Given the description of an element on the screen output the (x, y) to click on. 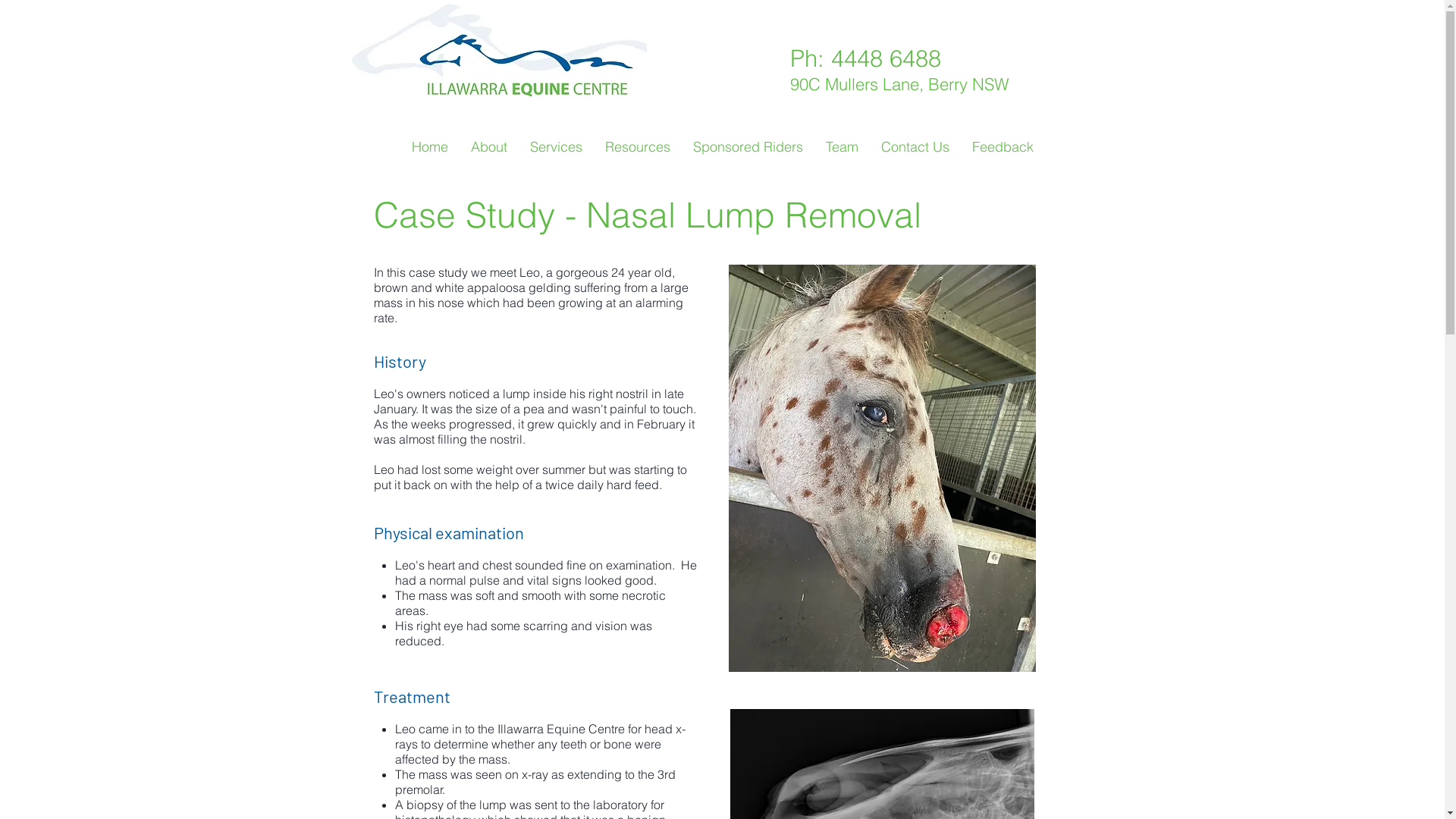
Feedback Element type: text (1002, 147)
About Element type: text (490, 147)
Resources Element type: text (636, 147)
Sponsored Riders Element type: text (746, 147)
Ph: 4448 6488
90C Mullers Lane, Berry NSW Element type: text (901, 71)
Contact Us Element type: text (914, 147)
Services Element type: text (555, 147)
Home Element type: text (431, 147)
Team Element type: text (841, 147)
